Given the description of an element on the screen output the (x, y) to click on. 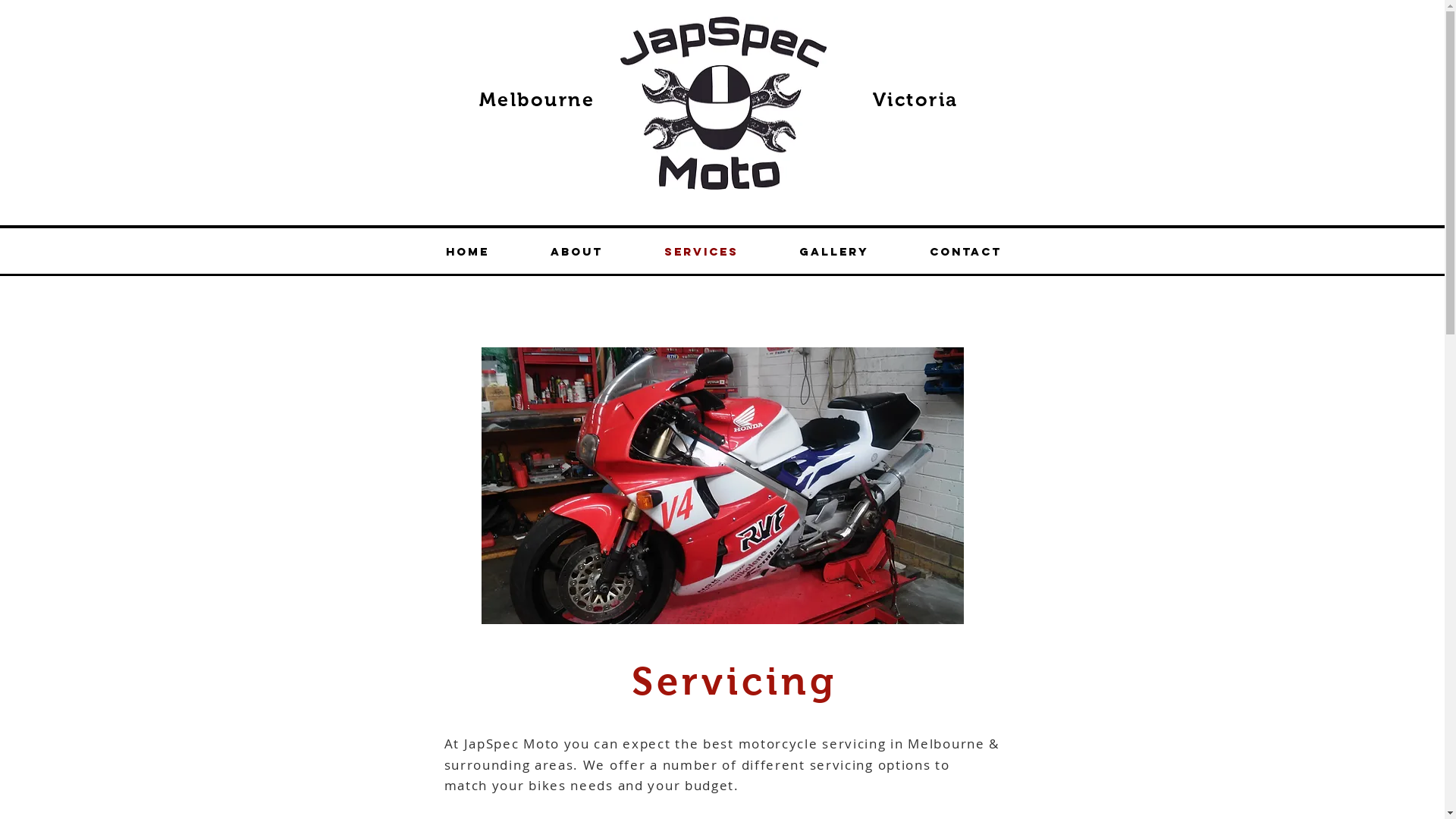
20150219_091533.jpg Element type: hover (721, 485)
About Element type: text (576, 250)
Services Element type: text (700, 250)
Contact Element type: text (965, 250)
Gallery Element type: text (833, 250)
Home Element type: text (467, 250)
